Given the description of an element on the screen output the (x, y) to click on. 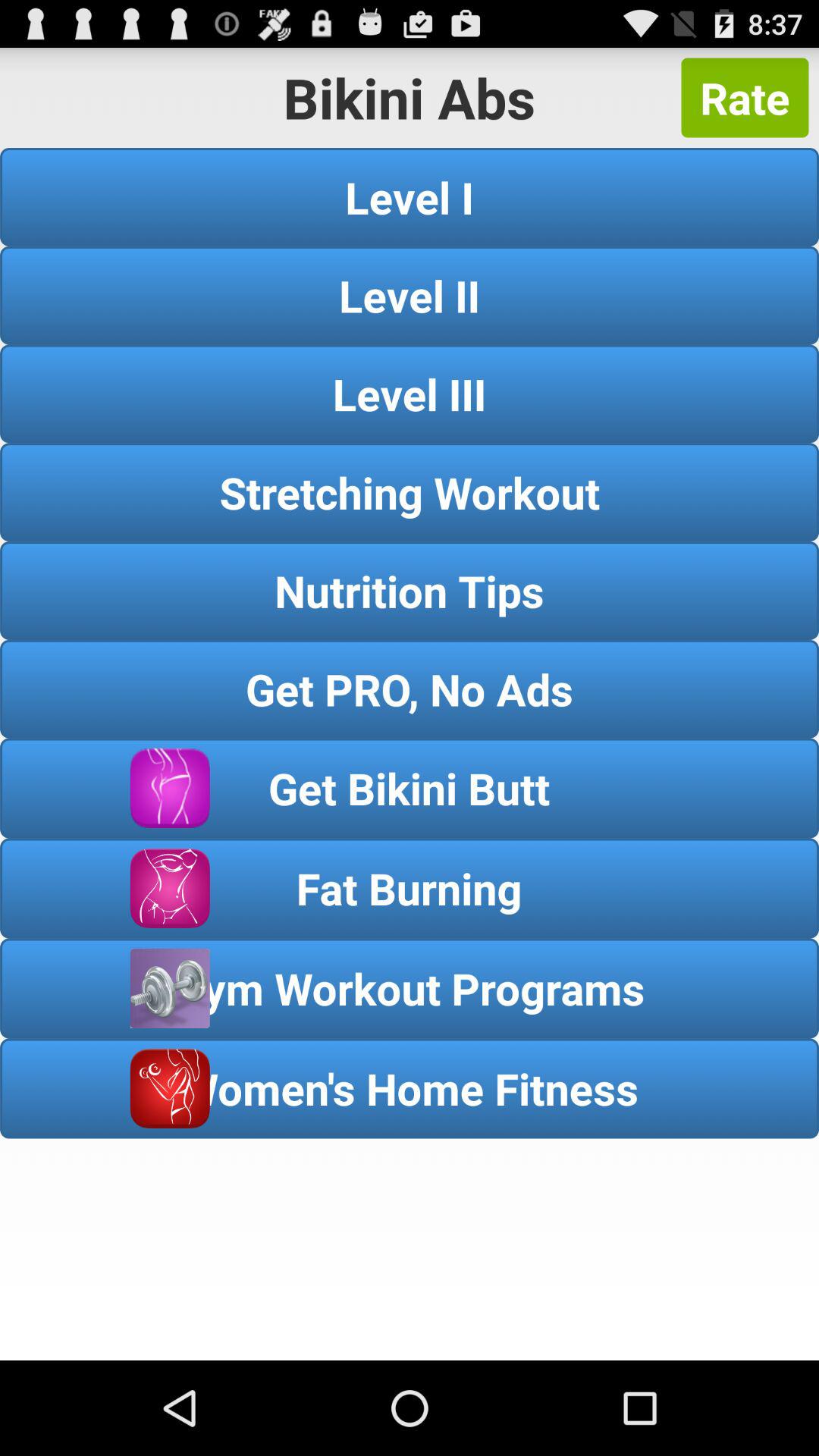
select get pro no button (409, 688)
